Given the description of an element on the screen output the (x, y) to click on. 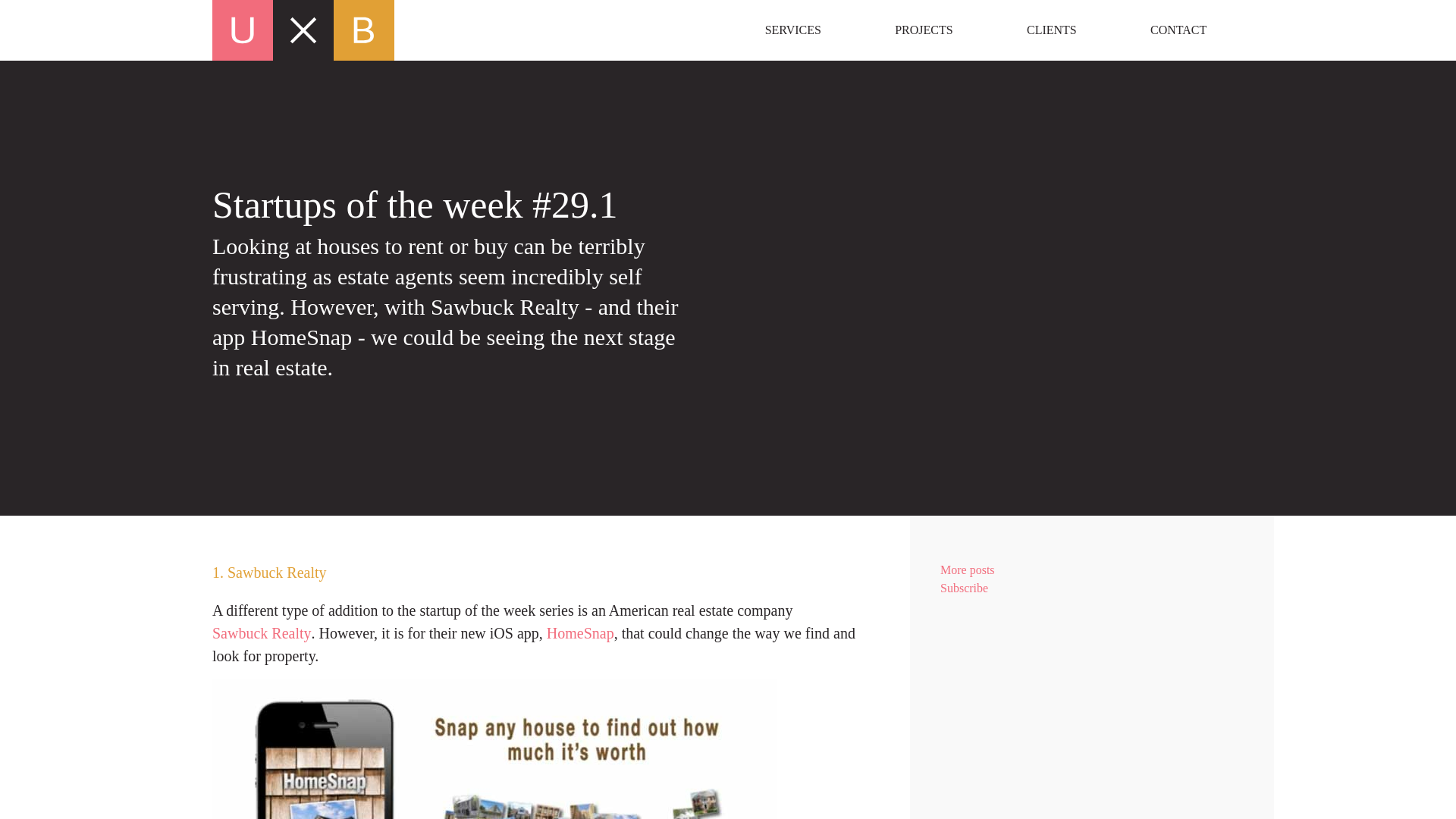
Subscribe (1091, 588)
CLIENTS (1051, 29)
More posts (1091, 570)
HomeSnap (580, 632)
PROJECTS (923, 29)
SERVICES (793, 29)
CONTACT (1092, 667)
Sawbuck Realty (1178, 29)
UXB (261, 632)
